Given the description of an element on the screen output the (x, y) to click on. 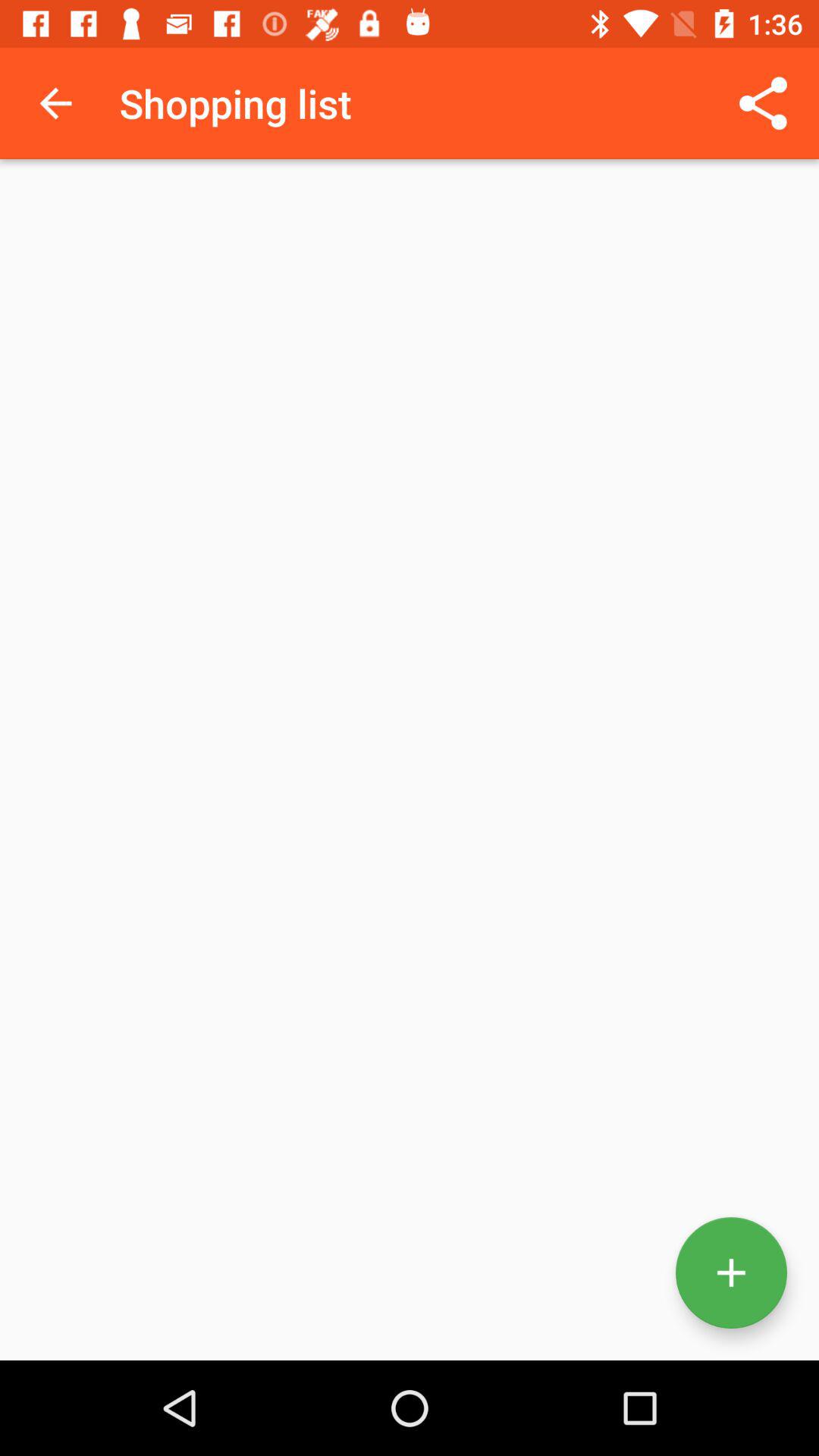
open icon to the right of the shopping list (763, 103)
